Given the description of an element on the screen output the (x, y) to click on. 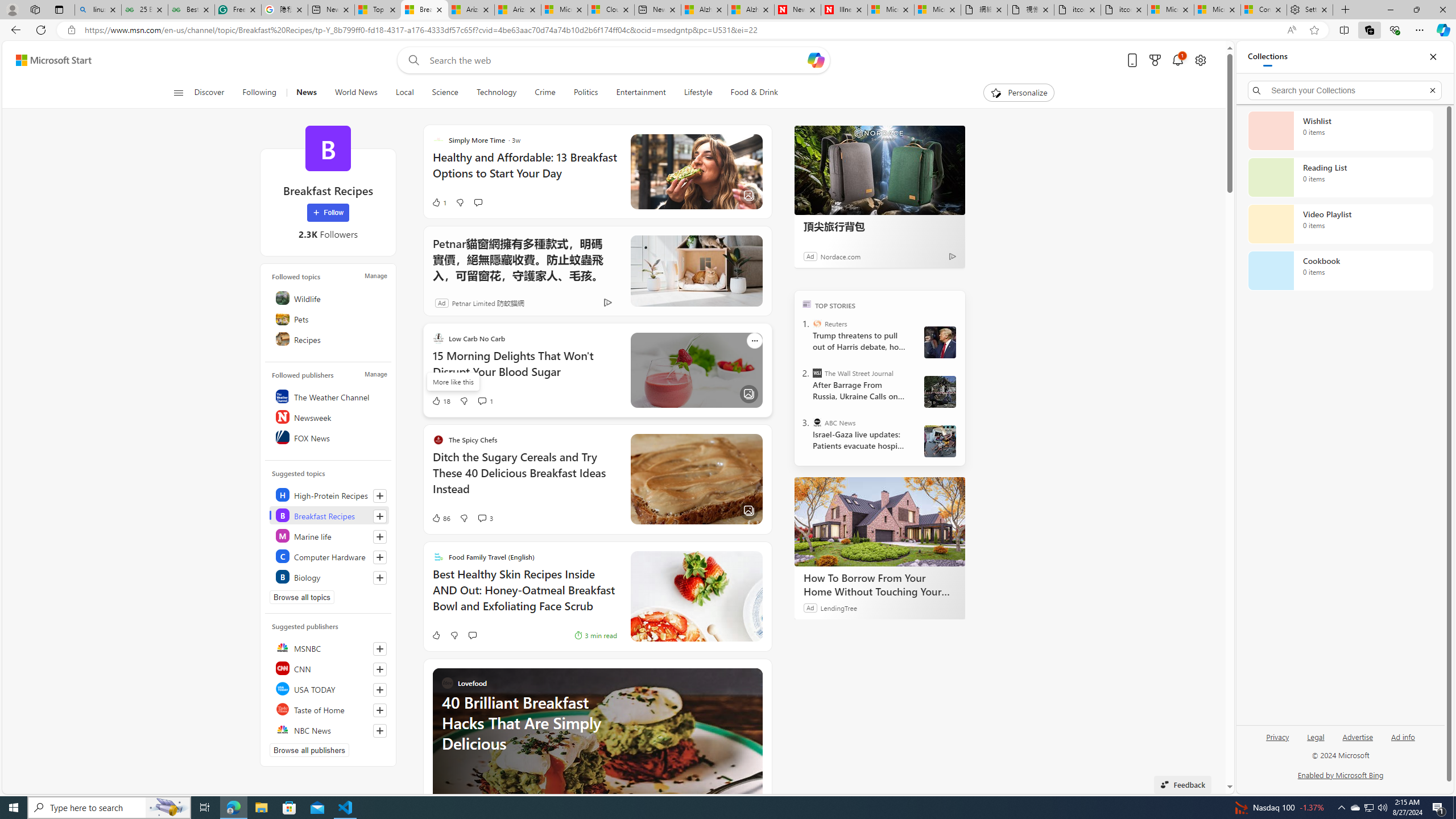
itconcepthk.com/projector_solutions.mp4 (1123, 9)
Discover (213, 92)
Wildlife (328, 298)
Web search (411, 60)
View comments 3 Comment (481, 517)
Politics (585, 92)
Follow this topic (379, 577)
Entertainment (641, 92)
MSNBC (328, 647)
Politics (585, 92)
Open Copilot (815, 59)
